Given the description of an element on the screen output the (x, y) to click on. 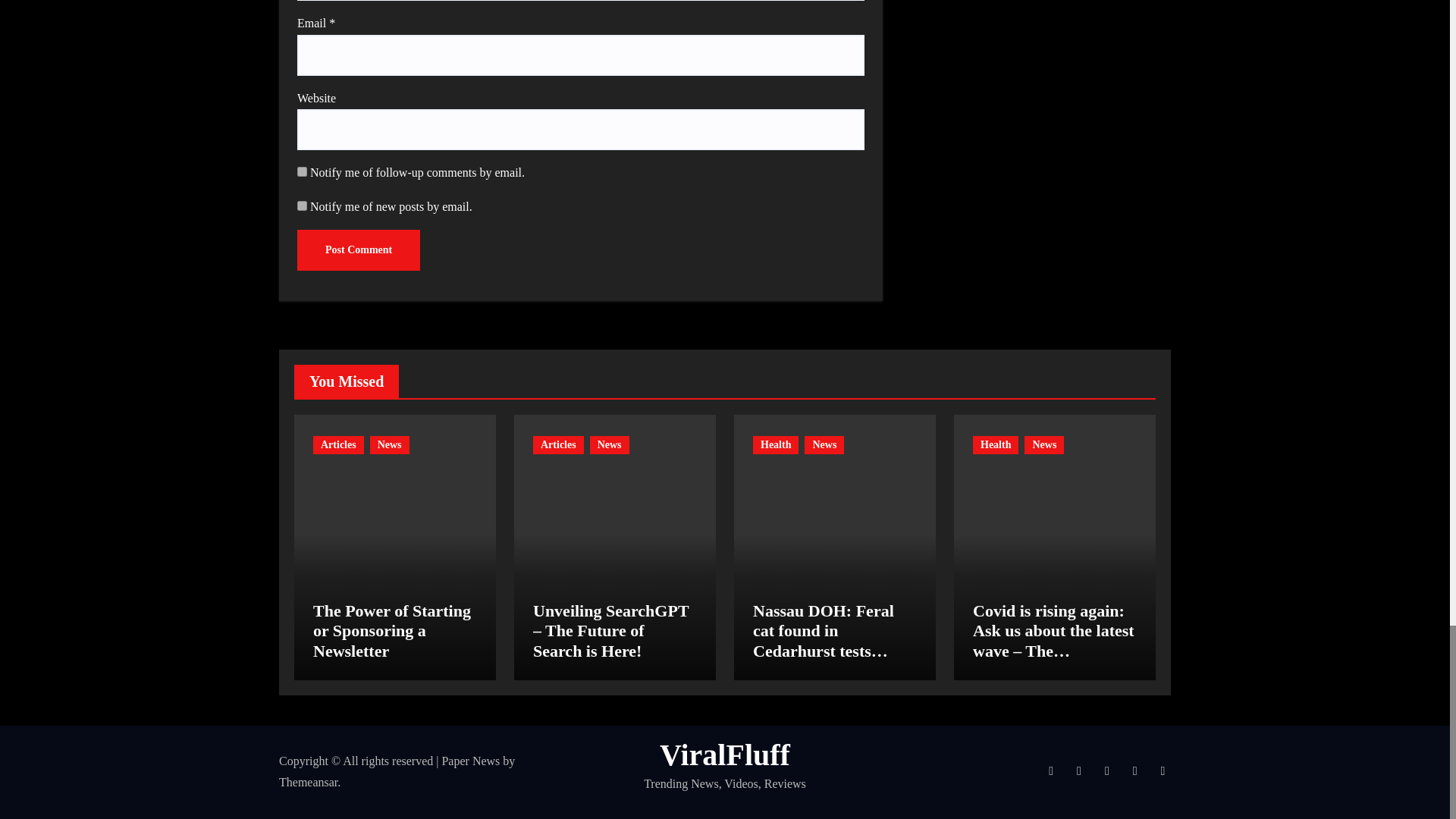
subscribe (302, 205)
Post Comment (358, 250)
subscribe (302, 171)
